Given the description of an element on the screen output the (x, y) to click on. 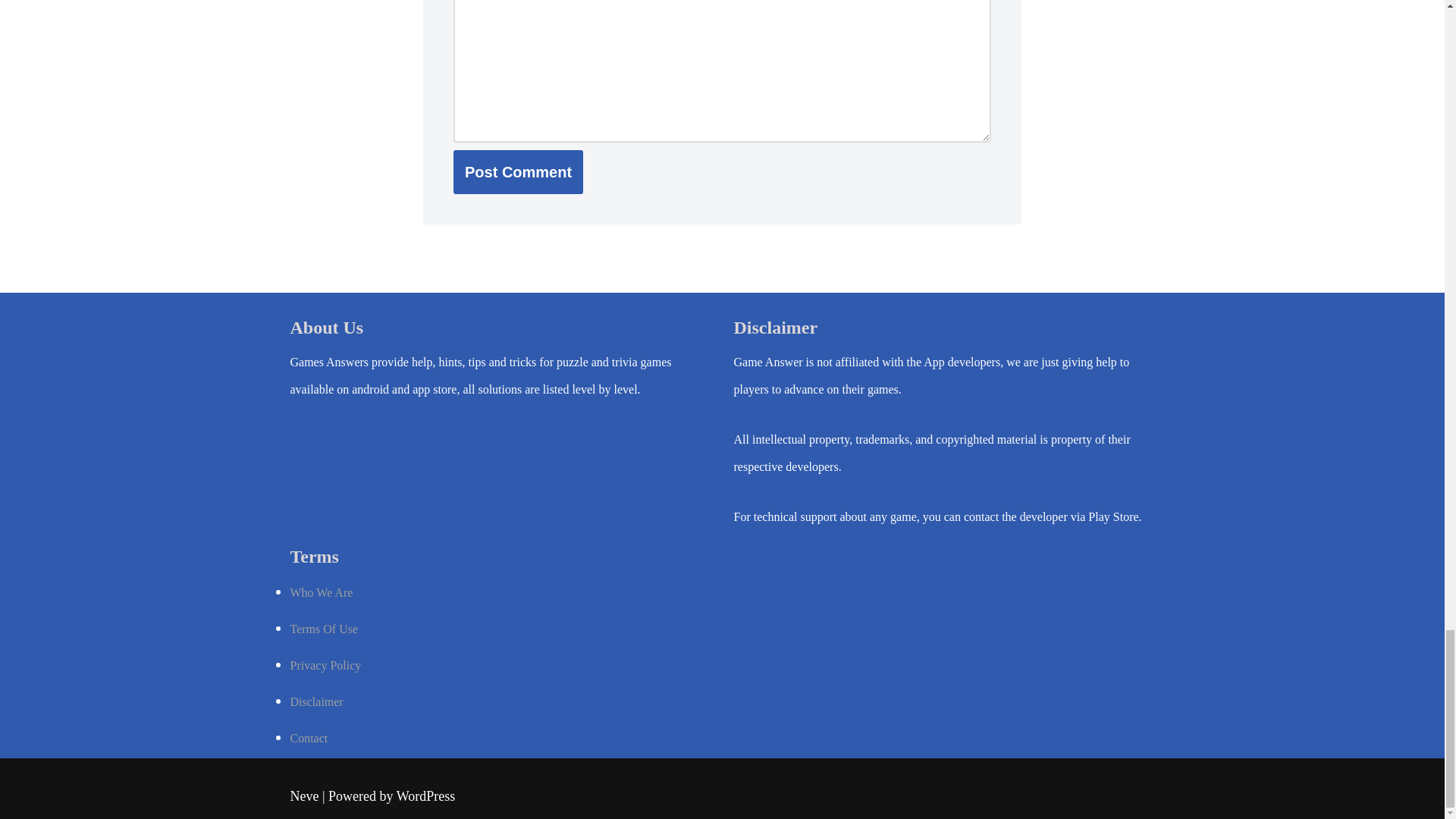
Post Comment (517, 171)
Contact (308, 738)
Who We Are (320, 592)
Disclaimer (315, 701)
Terms Of Use (323, 628)
WordPress (425, 795)
Post Comment (517, 171)
Neve (303, 795)
Privacy Policy (325, 665)
